Given the description of an element on the screen output the (x, y) to click on. 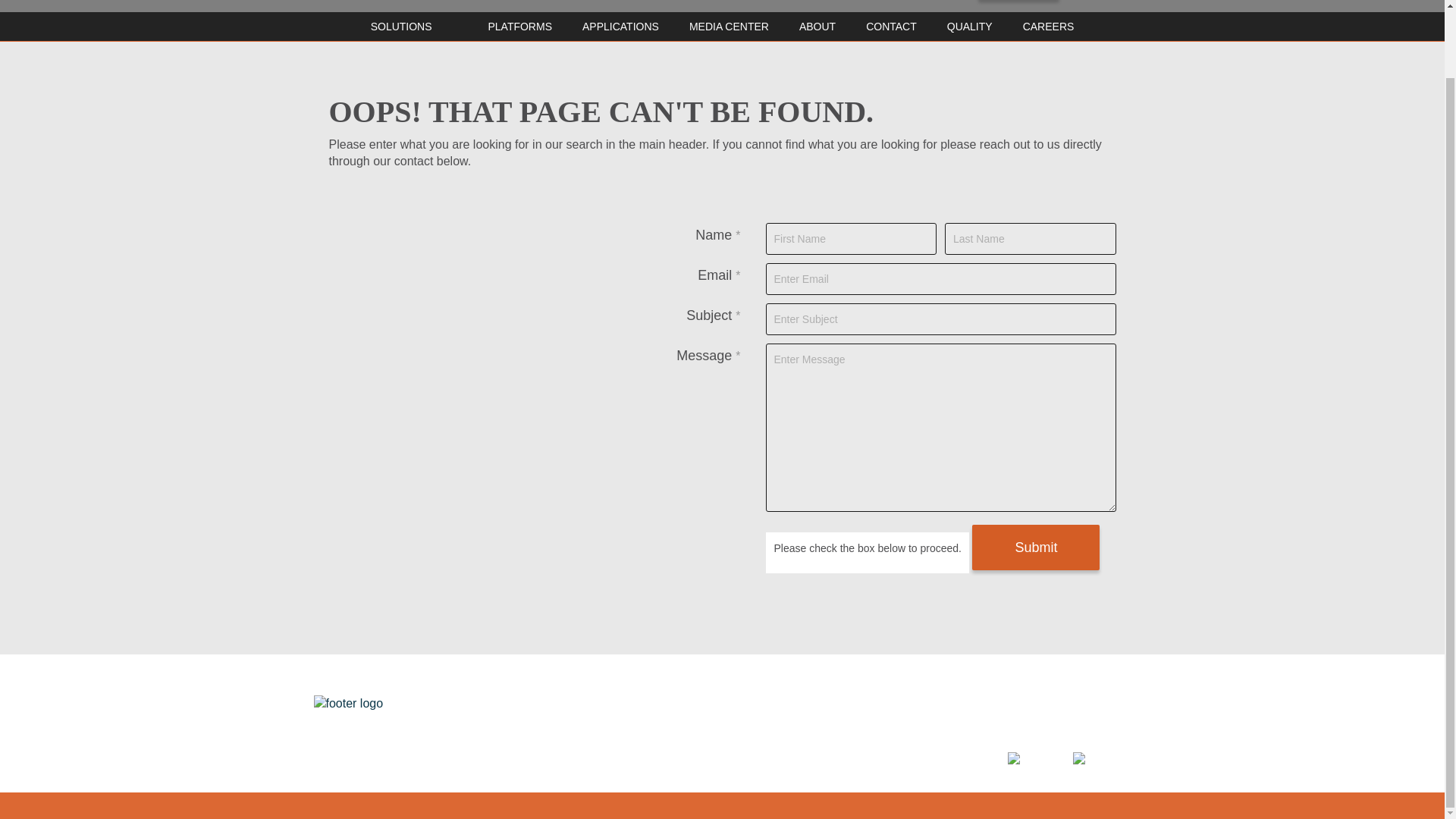
QUALITY (1032, 702)
CONTACT (774, 702)
MEDIA CENTER (728, 26)
PLATFORMS (519, 26)
ABOUT (817, 26)
CONTACT (891, 26)
Submit (1035, 547)
APPLICATIONS (620, 26)
CAREERS (1048, 26)
MEDIA CENTER (695, 702)
